Given the description of an element on the screen output the (x, y) to click on. 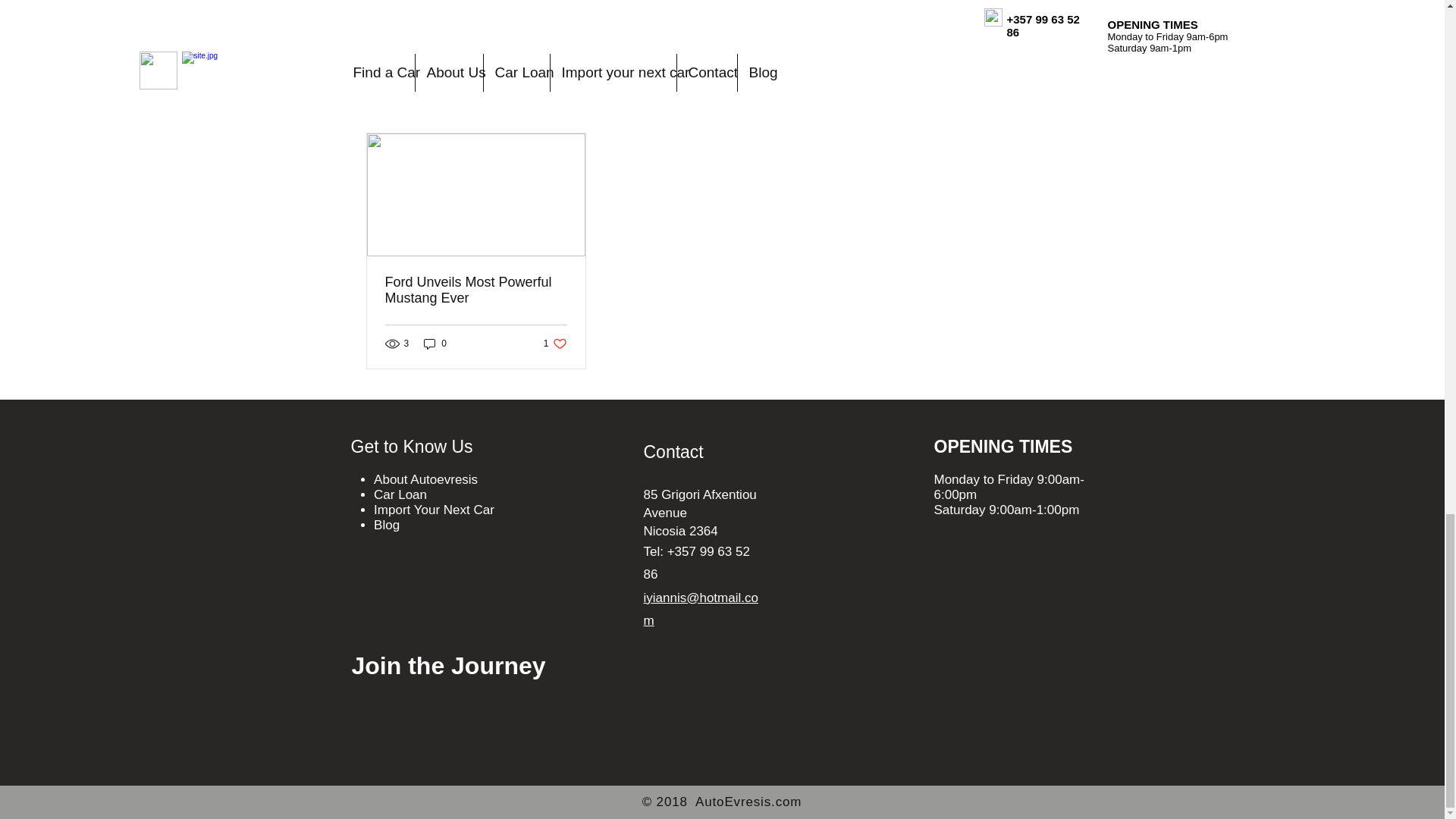
Blog (386, 524)
0 (435, 343)
Ford Unveils Most Powerful Mustang Ever (476, 290)
Import Your Next Car (990, 23)
See All (555, 343)
Contact (434, 509)
Car Loan (1061, 106)
About Autoevresis (673, 451)
